Given the description of an element on the screen output the (x, y) to click on. 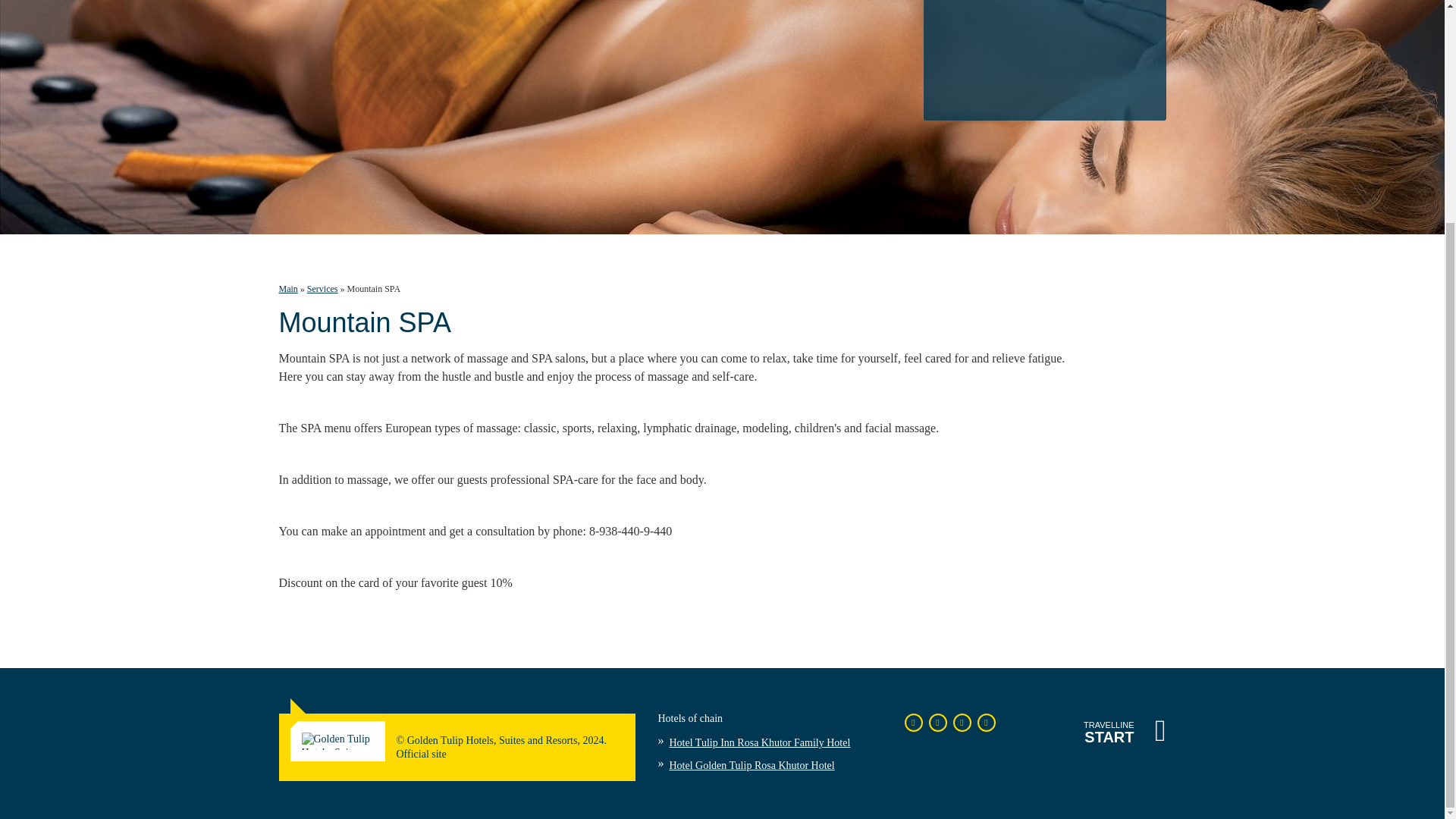
Main (288, 288)
Services (322, 288)
Development and promotion of hotels sites (1124, 730)
